Given the description of an element on the screen output the (x, y) to click on. 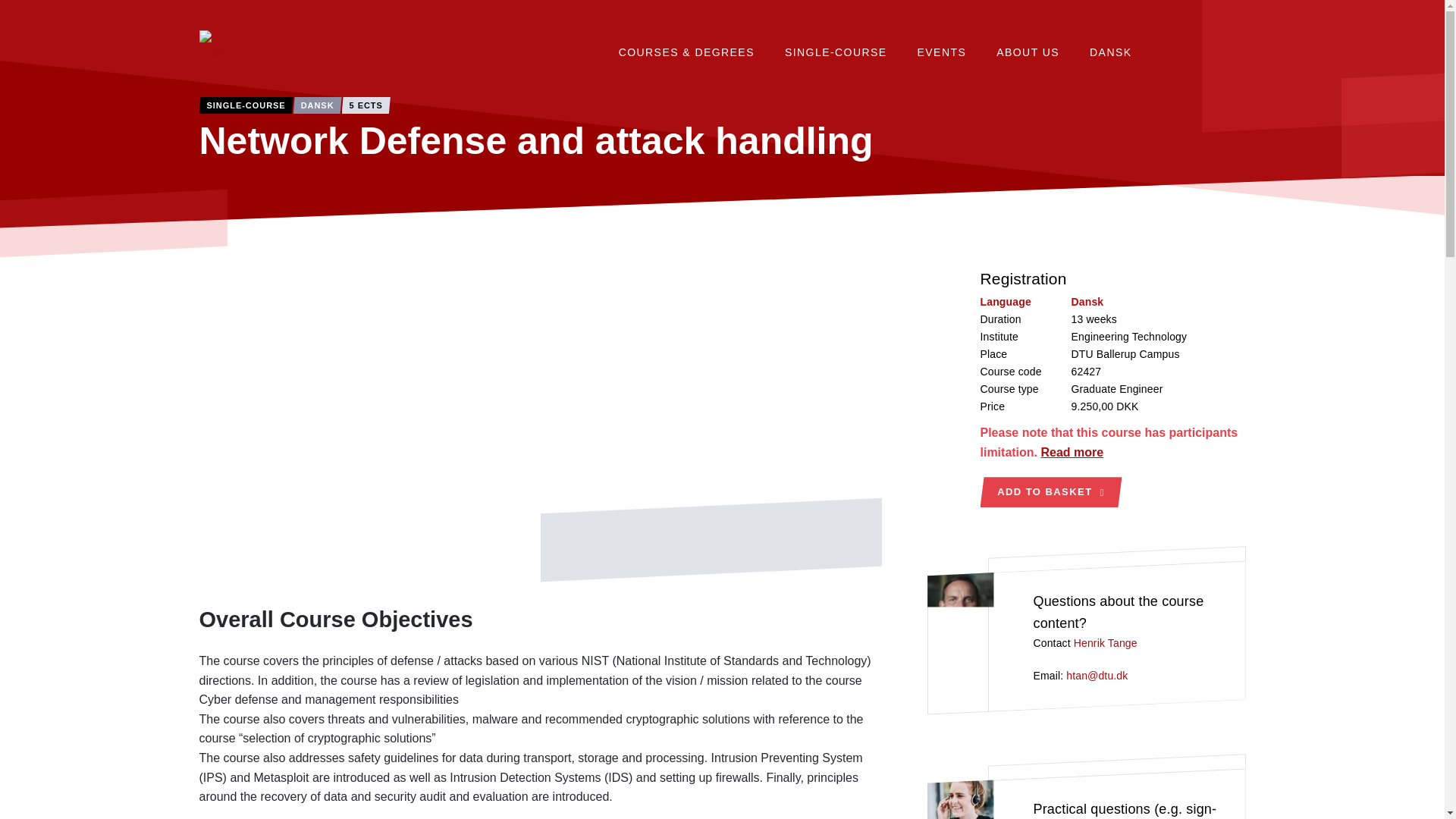
ADD TO BASKET (1050, 491)
Read more (1072, 451)
SEARCH (1221, 51)
Henrik Tange (1171, 51)
ABOUT US (1105, 643)
SINGLE-COURSE (1027, 52)
DANSK (836, 52)
EVENTS (1110, 52)
